Given the description of an element on the screen output the (x, y) to click on. 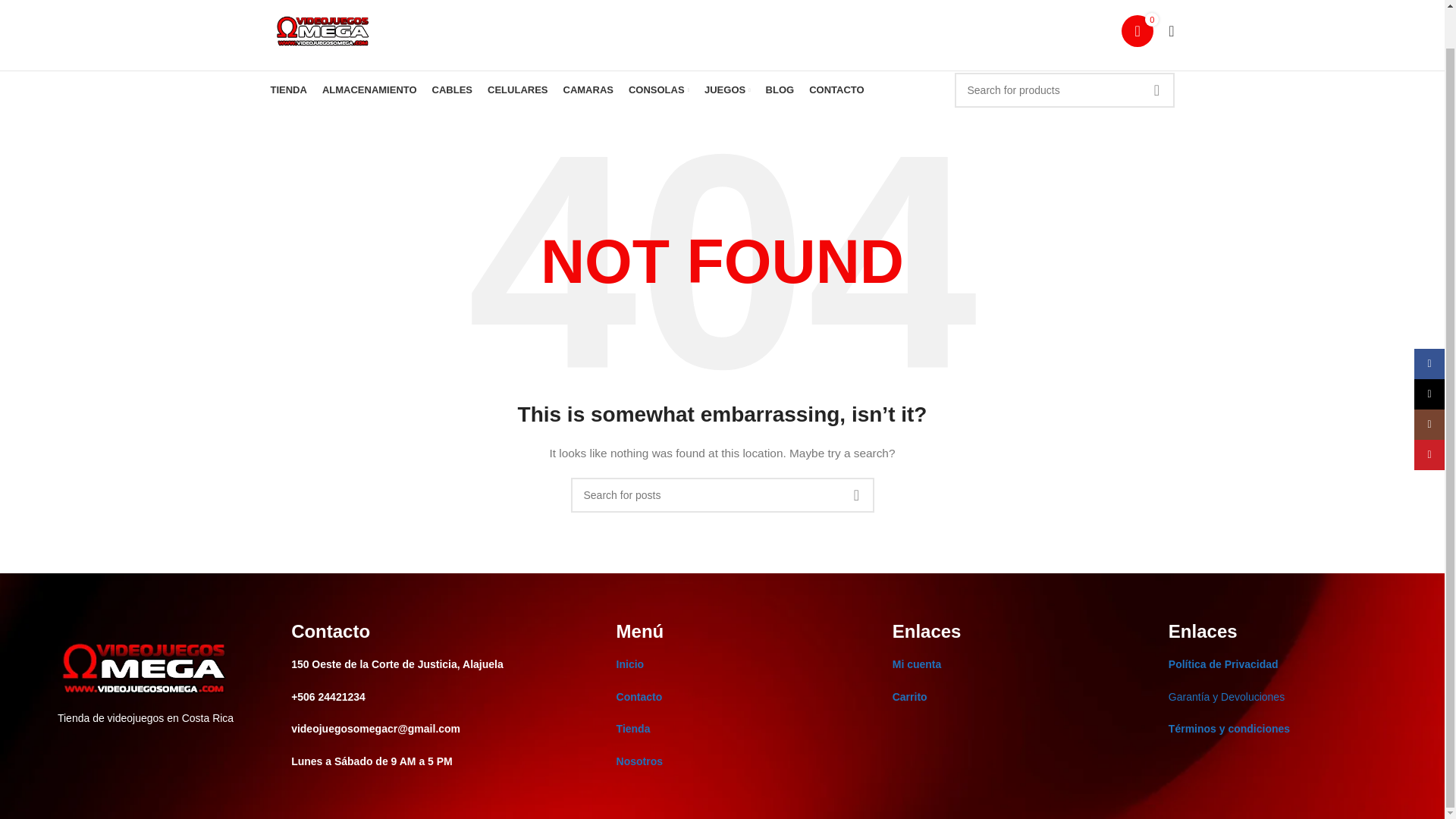
Search for products (1063, 89)
SEARCH (855, 494)
0 (1136, 30)
CONTACTO (836, 90)
CELULARES (517, 90)
ALMACENAMIENTO (368, 90)
CAMARAS (587, 90)
Shopping cart (1136, 30)
Search for posts (721, 494)
JUEGOS (727, 90)
